Given the description of an element on the screen output the (x, y) to click on. 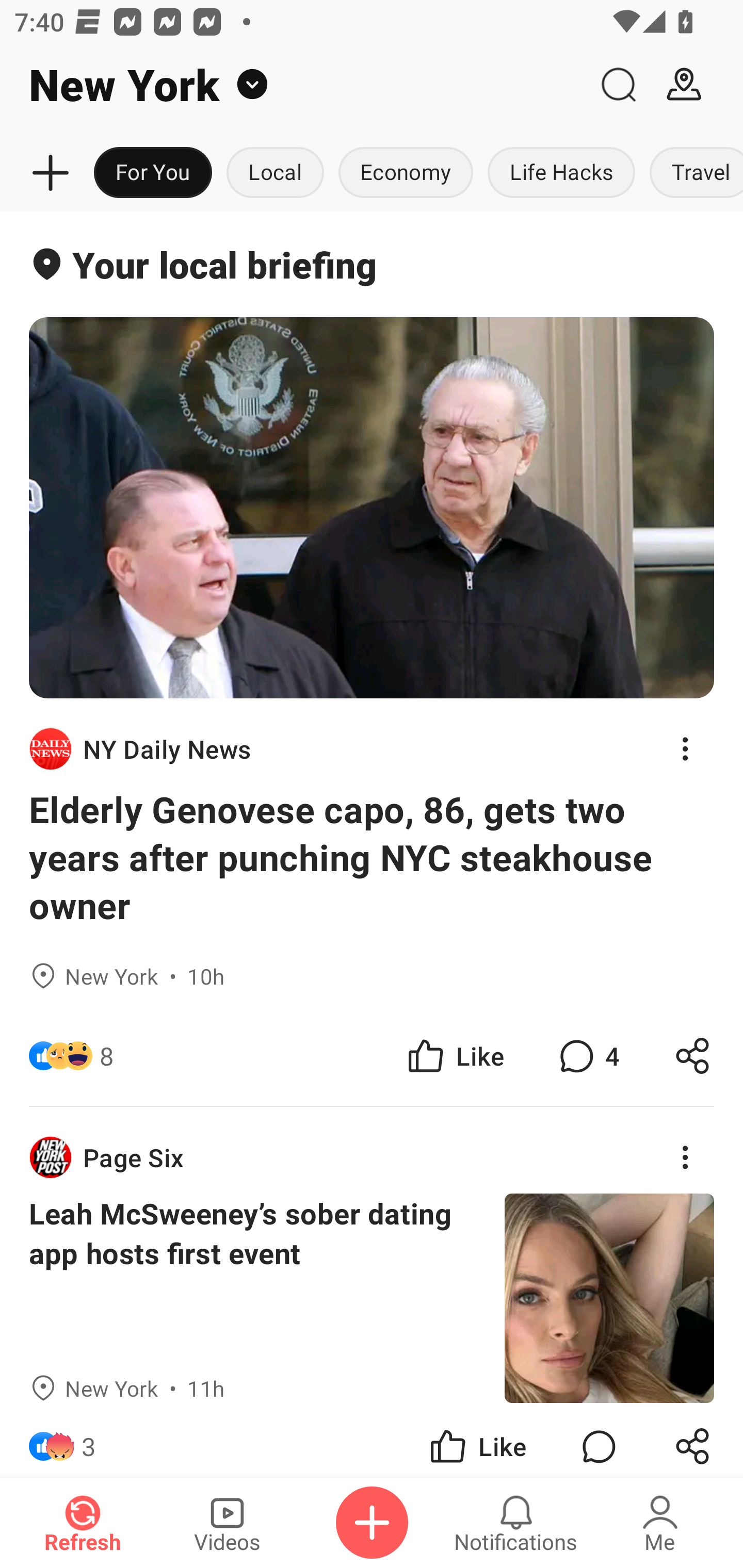
New York (292, 84)
For You (152, 172)
Local (275, 172)
Economy (405, 172)
Life Hacks (561, 172)
Travel (692, 172)
8 (106, 1055)
Like (454, 1055)
4 (587, 1055)
3 (88, 1440)
Like (476, 1440)
Videos (227, 1522)
Notifications (516, 1522)
Me (659, 1522)
